Given the description of an element on the screen output the (x, y) to click on. 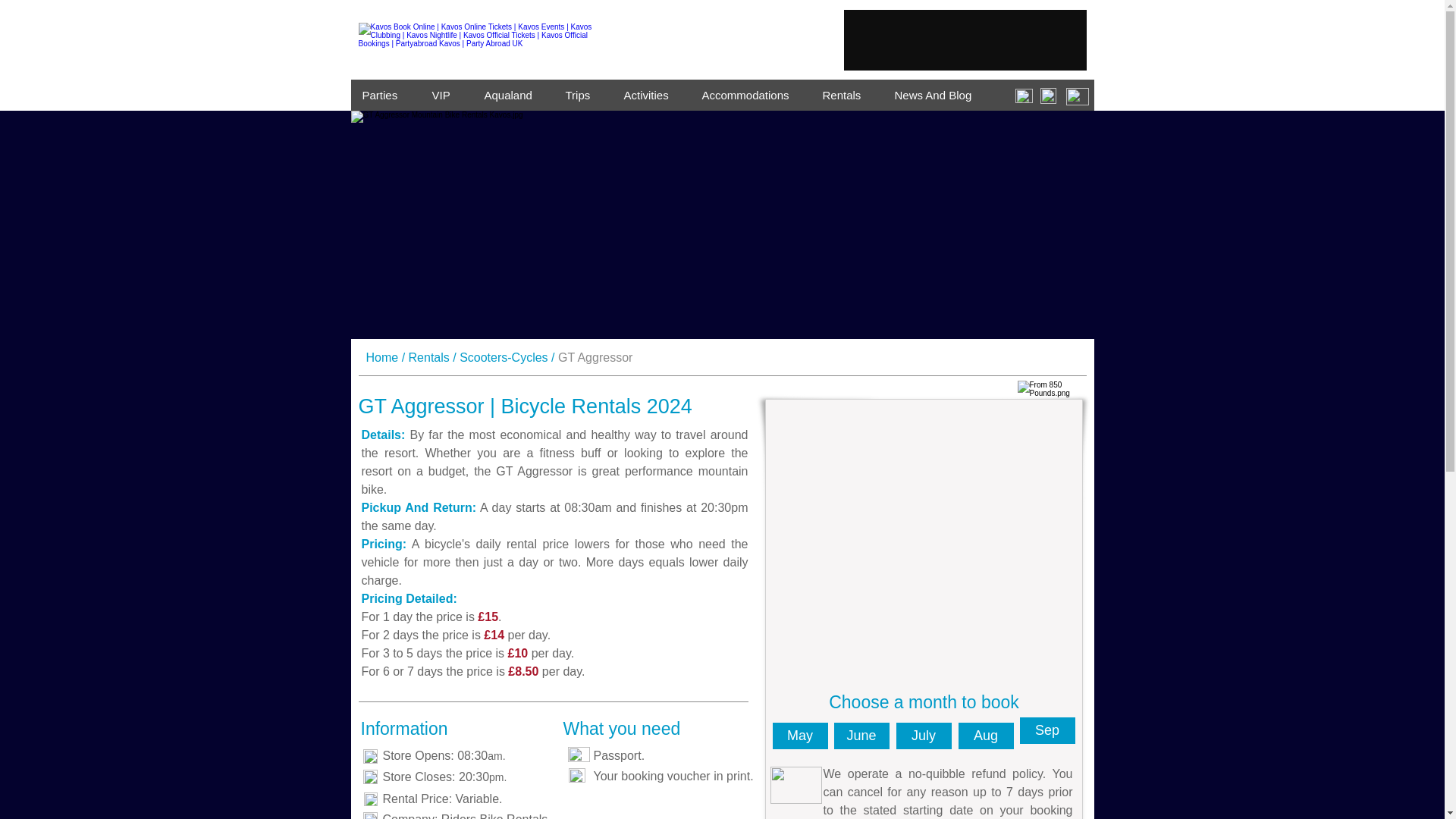
Kavos Corfu Trip Duration.png (369, 776)
June (861, 735)
My Shopping Cart.png (1077, 96)
Activities (651, 94)
May (799, 735)
Money Icon Pound.png (370, 798)
Aqualand (513, 94)
Trips (582, 94)
VIP (445, 94)
